Given the description of an element on the screen output the (x, y) to click on. 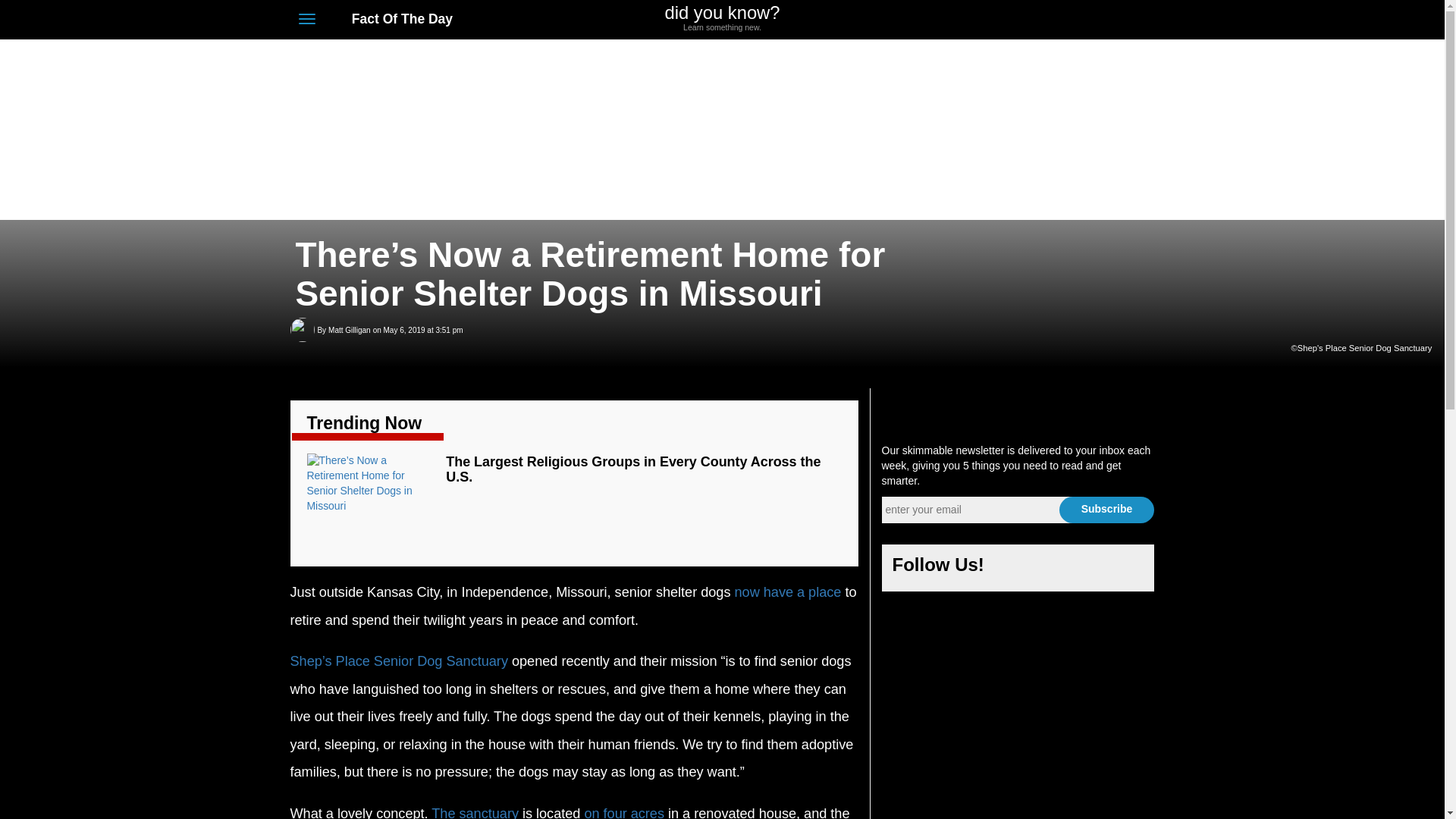
Twitter (1063, 20)
The sanctuary (474, 812)
Instagram (1091, 569)
now have a place (787, 591)
Subscribe (722, 18)
Matt Gilligan (1106, 509)
The Largest Religious Groups in Every County Across the U.S. (349, 330)
Facebook (633, 469)
Instagram (1018, 569)
